Given the description of an element on the screen output the (x, y) to click on. 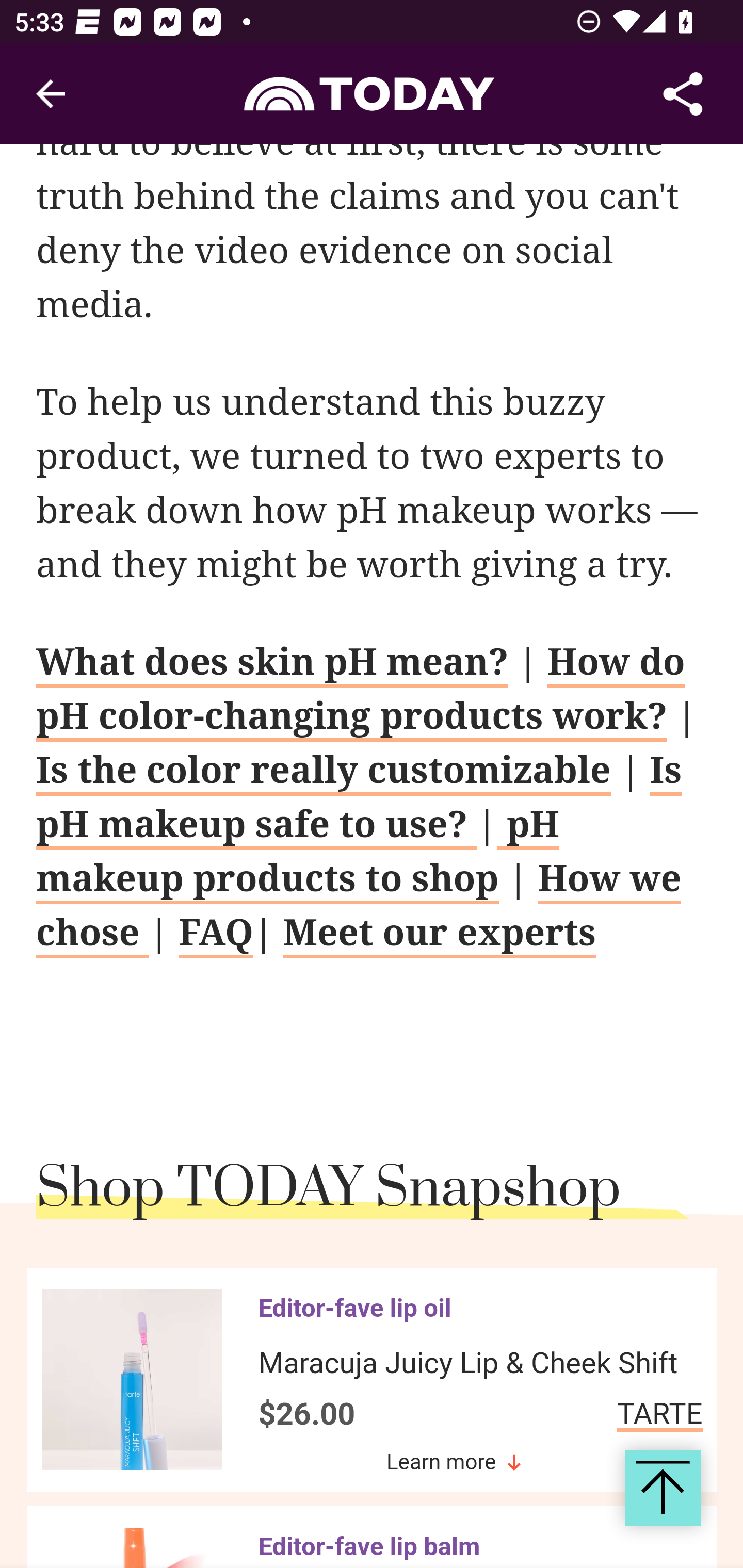
Navigate up (50, 93)
Share Article, button (683, 94)
Header, Today (371, 93)
How do pH color (361, 692)
Is pH makeup safe to use?  (359, 801)
How we chose  (359, 909)
TARTE (659, 1417)
Learn more (453, 1464)
